Given the description of an element on the screen output the (x, y) to click on. 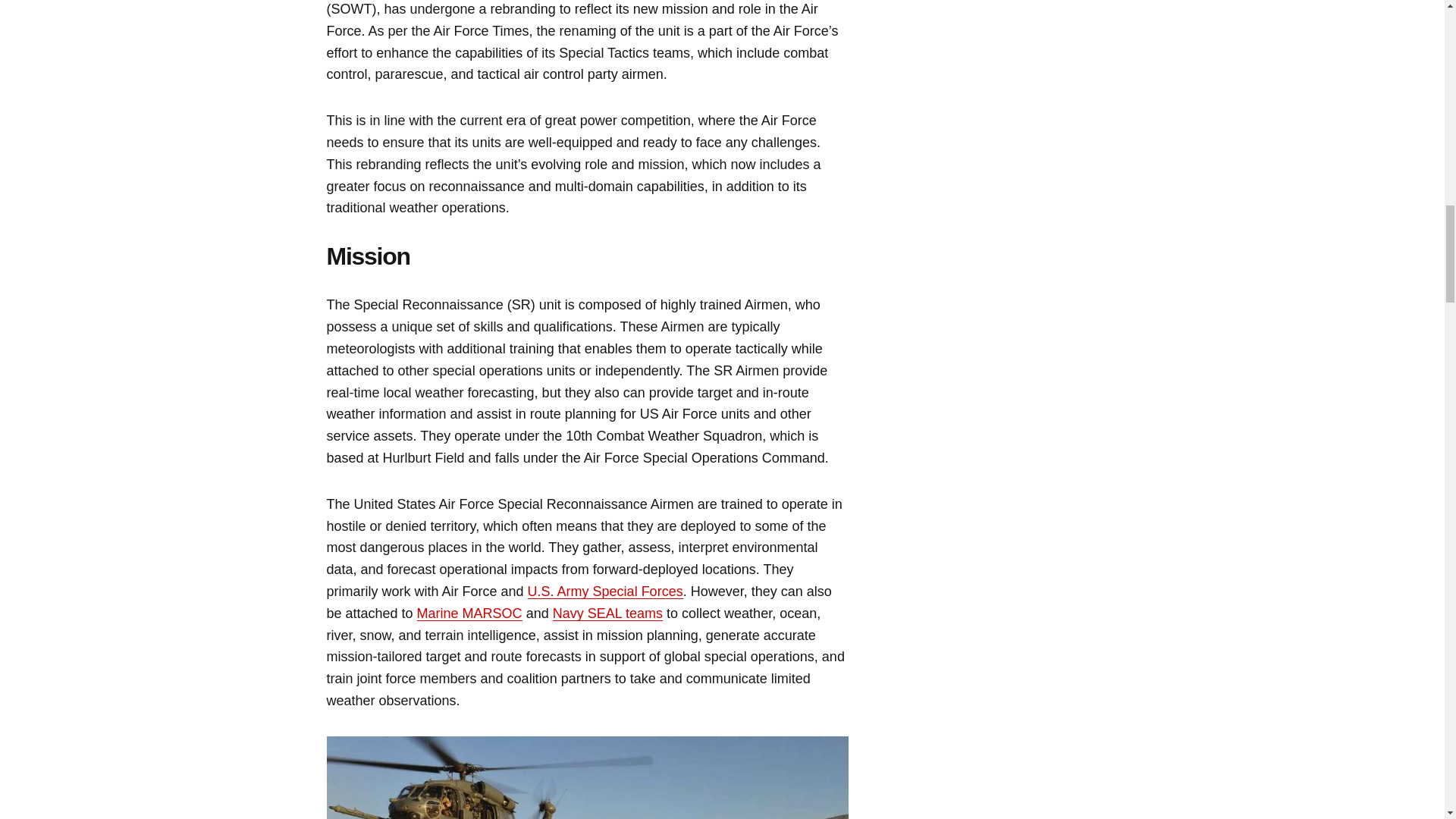
Navy SEAL teams (607, 613)
Marine MARSOC (469, 613)
U.S. Army Special Forces (604, 590)
